Given the description of an element on the screen output the (x, y) to click on. 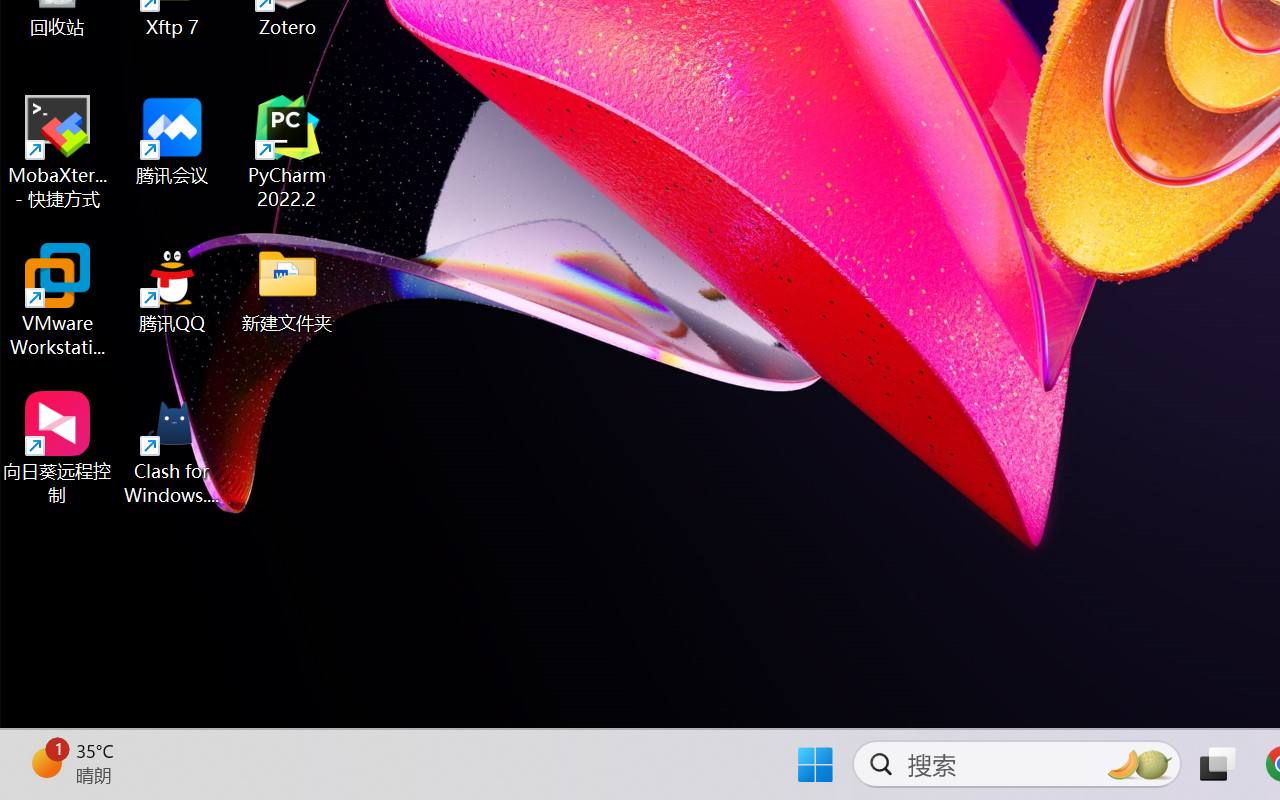
PyCharm 2022.2 (287, 152)
VMware Workstation Pro (57, 300)
